Given the description of an element on the screen output the (x, y) to click on. 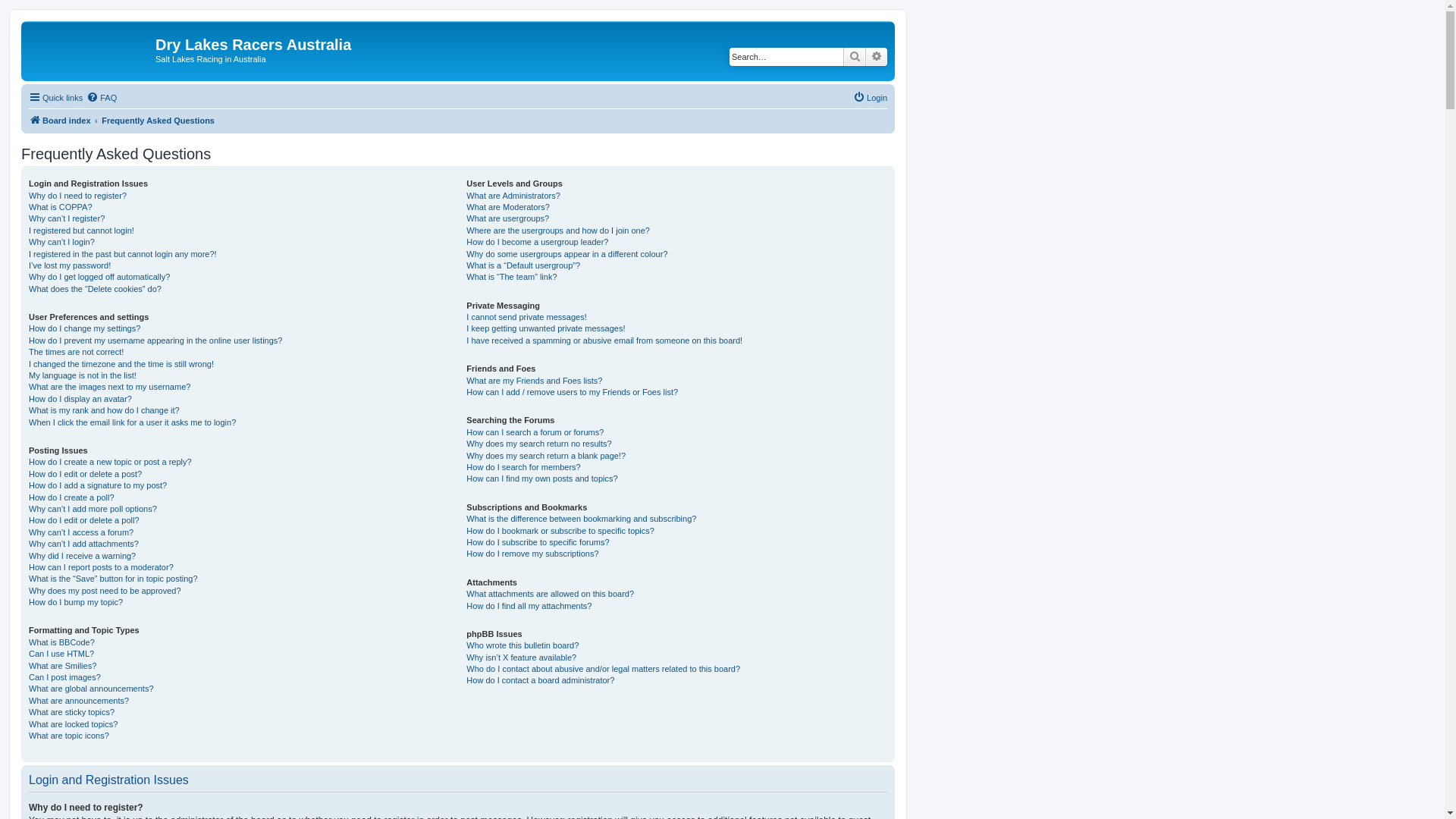
How do I remove my subscriptions? Element type: text (532, 553)
Search Element type: text (854, 56)
What are global announcements? Element type: text (90, 688)
How can I search a forum or forums? Element type: text (534, 432)
How do I change my settings? Element type: text (84, 328)
I changed the timezone and the time is still wrong! Element type: text (120, 364)
What are my Friends and Foes lists? Element type: text (534, 380)
Who wrote this bulletin board? Element type: text (522, 645)
Can I post images? Element type: text (64, 677)
How do I create a poll? Element type: text (71, 497)
Frequently Asked Questions Element type: text (157, 120)
FAQ Element type: text (101, 97)
Why do I need to register? Element type: text (77, 195)
How can I report posts to a moderator? Element type: text (100, 567)
Why do I get logged off automatically? Element type: text (98, 276)
What are the images next to my username? Element type: text (109, 386)
What are topic icons? Element type: text (68, 735)
What are usergroups? Element type: text (507, 218)
What is BBCode? Element type: text (61, 642)
How do I contact a board administrator? Element type: text (540, 680)
How do I become a usergroup leader? Element type: text (537, 241)
How do I find all my attachments? Element type: text (528, 605)
When I click the email link for a user it asks me to login? Element type: text (131, 422)
Where are the usergroups and how do I join one? Element type: text (557, 230)
What are Moderators? Element type: text (507, 207)
Why does my search return a blank page!? Element type: text (545, 455)
How do I add a signature to my post? Element type: text (97, 485)
How can I find my own posts and topics? Element type: text (541, 478)
Can I use HTML? Element type: text (61, 653)
What are sticky topics? Element type: text (71, 712)
I registered in the past but cannot login any more?! Element type: text (122, 254)
How do I edit or delete a poll? Element type: text (83, 520)
How do I bookmark or subscribe to specific topics? Element type: text (560, 530)
How do I create a new topic or post a reply? Element type: text (109, 461)
The times are not correct! Element type: text (75, 351)
What are Administrators? Element type: text (513, 195)
Why does my post need to be approved? Element type: text (104, 590)
What is the difference between bookmarking and subscribing? Element type: text (581, 518)
Quick links Element type: text (55, 97)
Advanced search Element type: text (876, 56)
Board index Element type: text (59, 120)
Search for keywords Element type: hover (786, 56)
Login Element type: text (870, 97)
How can I add / remove users to my Friends or Foes list? Element type: text (571, 392)
What are locked topics? Element type: text (72, 724)
What are announcements? Element type: text (78, 700)
What is COPPA? Element type: text (60, 207)
I cannot send private messages! Element type: text (526, 317)
My language is not in the list! Element type: text (82, 375)
What is my rank and how do I change it? Element type: text (103, 410)
Board index Element type: hover (90, 49)
Why does my search return no results? Element type: text (538, 443)
What attachments are allowed on this board? Element type: text (549, 593)
Why do some usergroups appear in a different colour? Element type: text (566, 254)
How do I subscribe to specific forums? Element type: text (537, 542)
How do I edit or delete a post? Element type: text (84, 474)
I keep getting unwanted private messages! Element type: text (545, 328)
How do I bump my topic? Element type: text (75, 602)
How do I display an avatar? Element type: text (79, 398)
What are Smilies? Element type: text (62, 665)
Why did I receive a warning? Element type: text (81, 555)
I registered but cannot login! Element type: text (81, 230)
How do I search for members? Element type: text (523, 467)
